Given the description of an element on the screen output the (x, y) to click on. 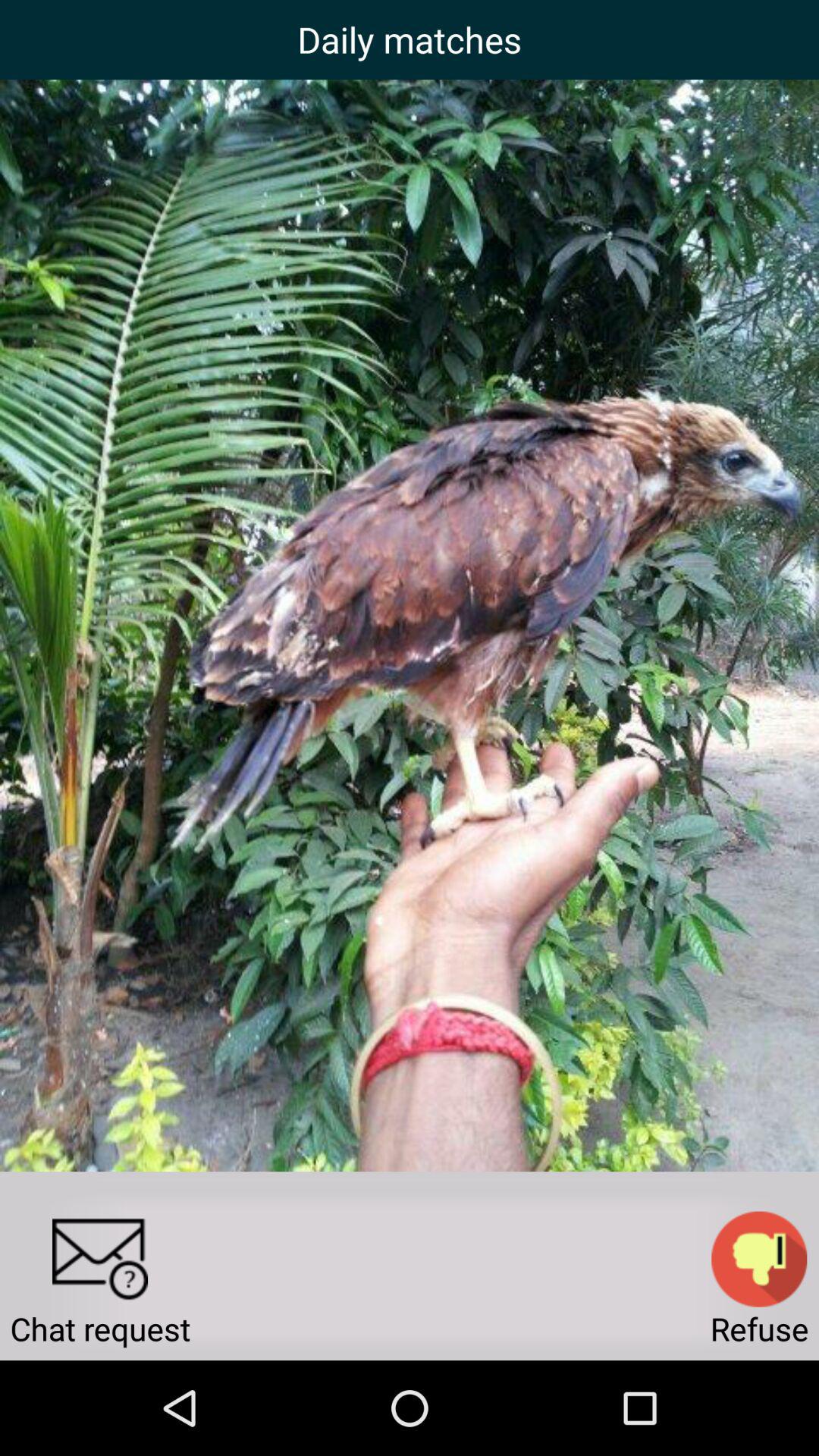
chat request option (99, 1258)
